Given the description of an element on the screen output the (x, y) to click on. 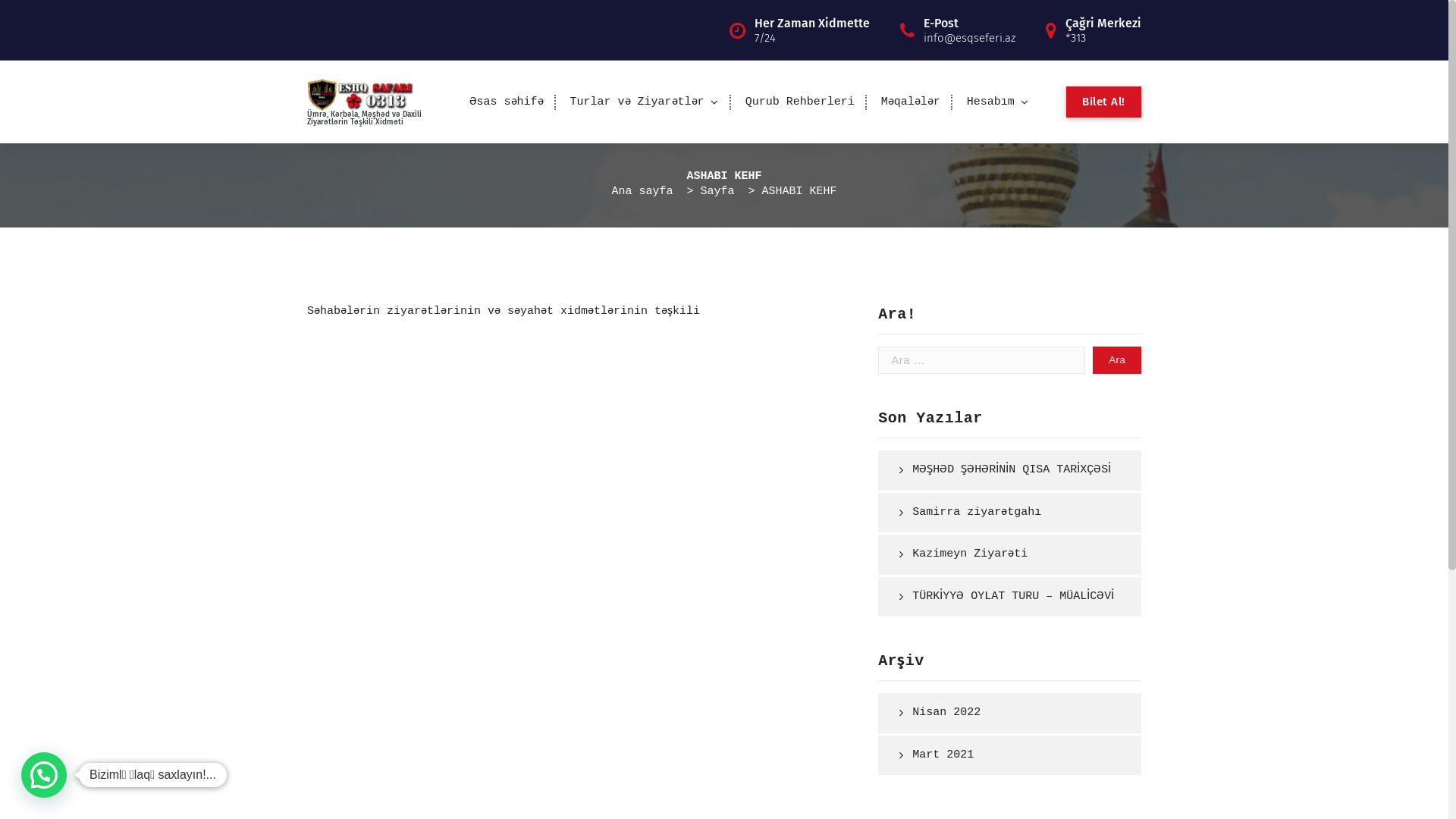
Ana sayfa Element type: text (641, 191)
Sayfa Element type: text (716, 191)
E-Post
info@esqseferi.az Element type: text (969, 29)
Her Zaman Xidmette
7/24 Element type: text (811, 29)
Nisan 2022 Element type: text (1003, 713)
B
i
l
e
t
 A
l
! Element type: text (1103, 101)
Qurub Rehberleri Element type: text (799, 102)
Mart 2021 Element type: text (1003, 755)
Ara Element type: text (1116, 360)
